Given the description of an element on the screen output the (x, y) to click on. 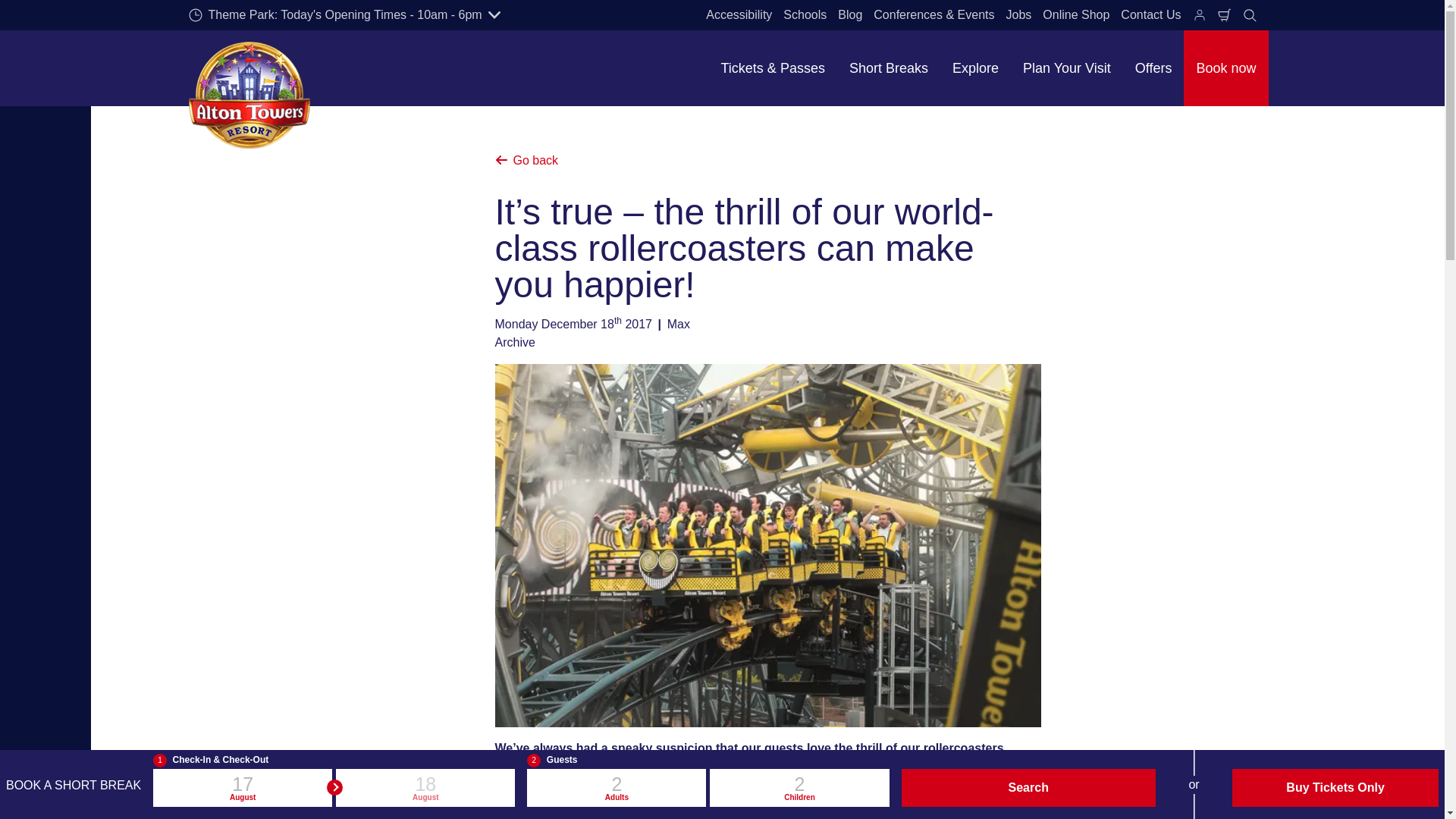
Search (1249, 14)
Theme Park: Today's Opening Times - 10am - 6pm (343, 14)
Accessibility (738, 14)
Shopping cart (1223, 14)
Contact Us (1150, 14)
Jobs (1019, 14)
Shopping cart (1223, 14)
Online Shop (1076, 14)
Short Breaks (888, 68)
Schools (803, 14)
